Given the description of an element on the screen output the (x, y) to click on. 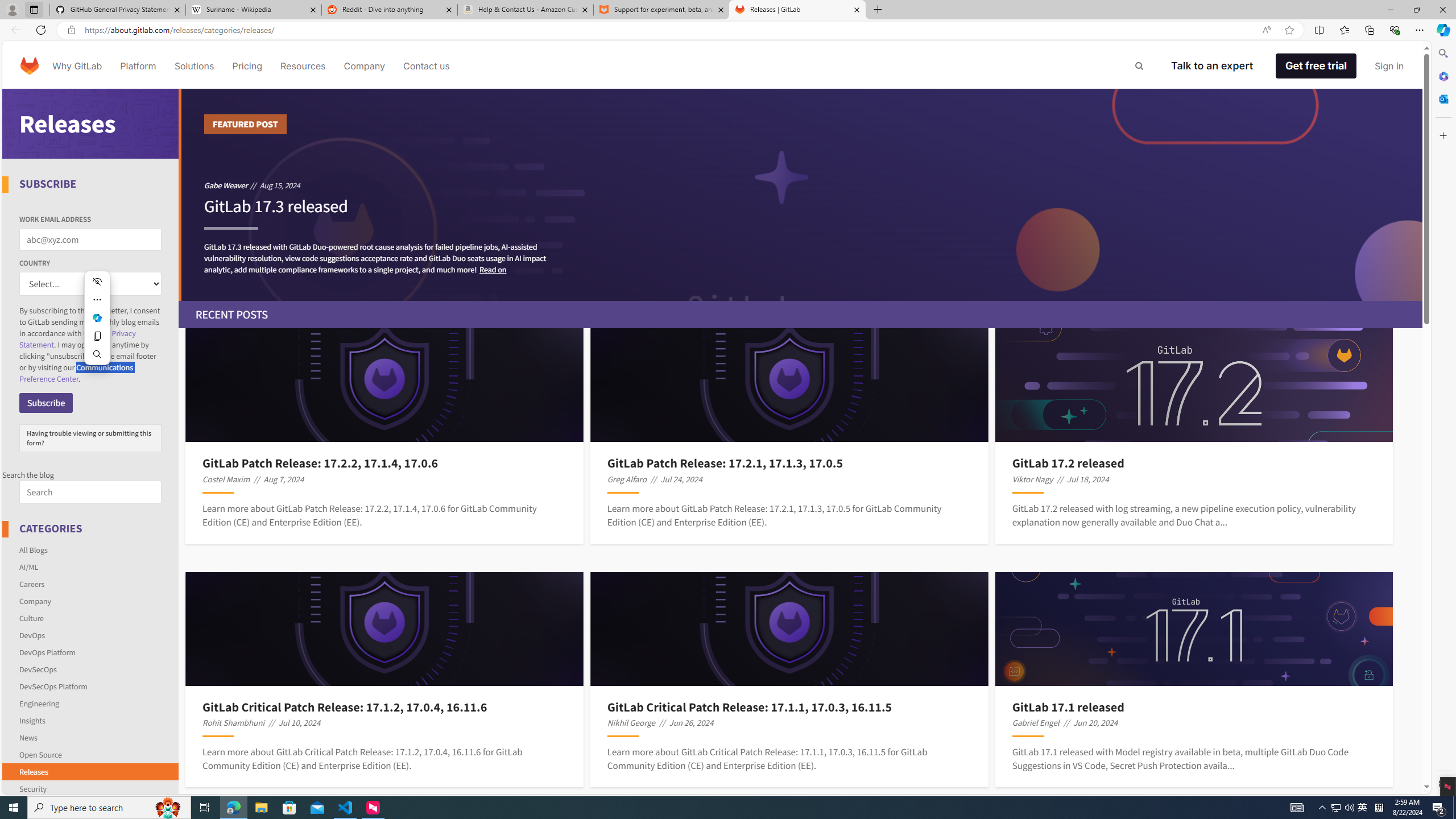
Company (35, 600)
GitHub General Privacy Statement - GitHub Docs (117, 9)
Hide menu (96, 281)
GitLab 17.1 released (1193, 706)
Careers (90, 583)
Pricing (246, 65)
GitLab 17.2 released (1193, 463)
Company (90, 600)
Security (90, 786)
Get free trial (1315, 65)
Mini menu on text selection (96, 317)
More actions (96, 299)
